Given the description of an element on the screen output the (x, y) to click on. 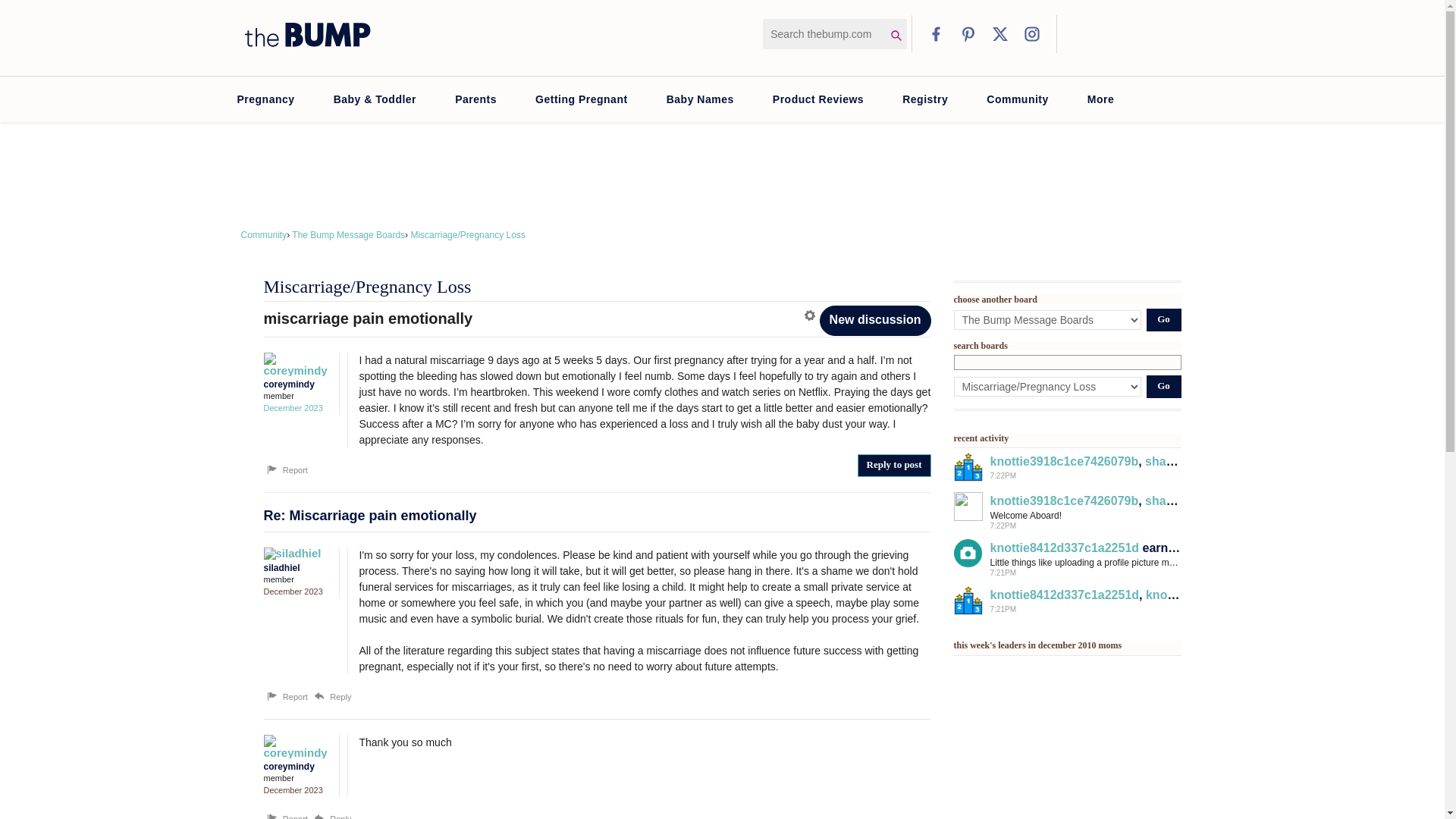
December 4, 2023 12:52AM (293, 407)
Options (811, 315)
member (297, 778)
December 13, 2023 7:41PM (293, 591)
coreymindy (293, 363)
Report (285, 696)
Report (285, 815)
Report (285, 469)
December 23, 2023 8:24PM (293, 789)
coreymindy (293, 746)
